Given the description of an element on the screen output the (x, y) to click on. 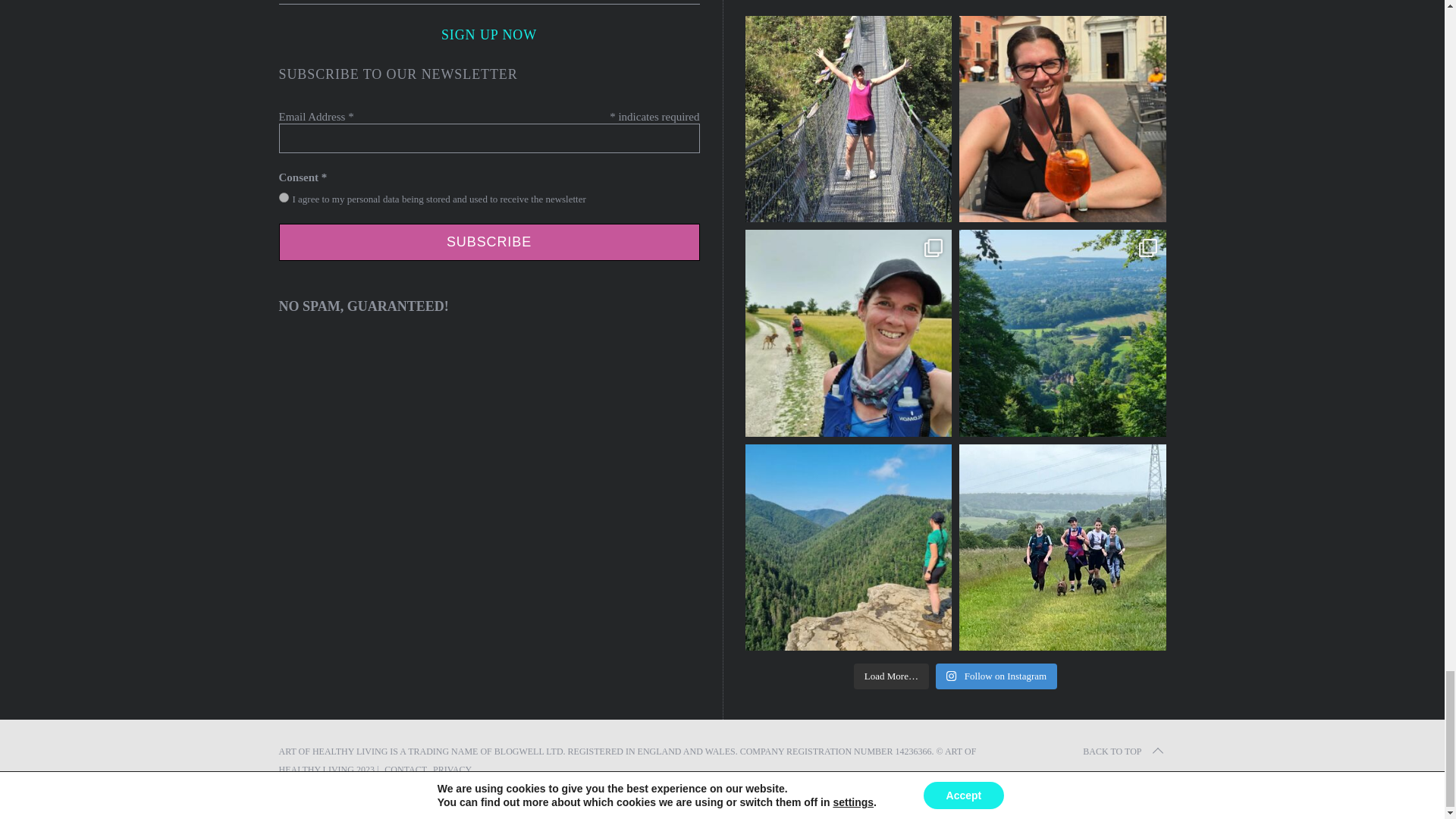
Subscribe (489, 242)
